Given the description of an element on the screen output the (x, y) to click on. 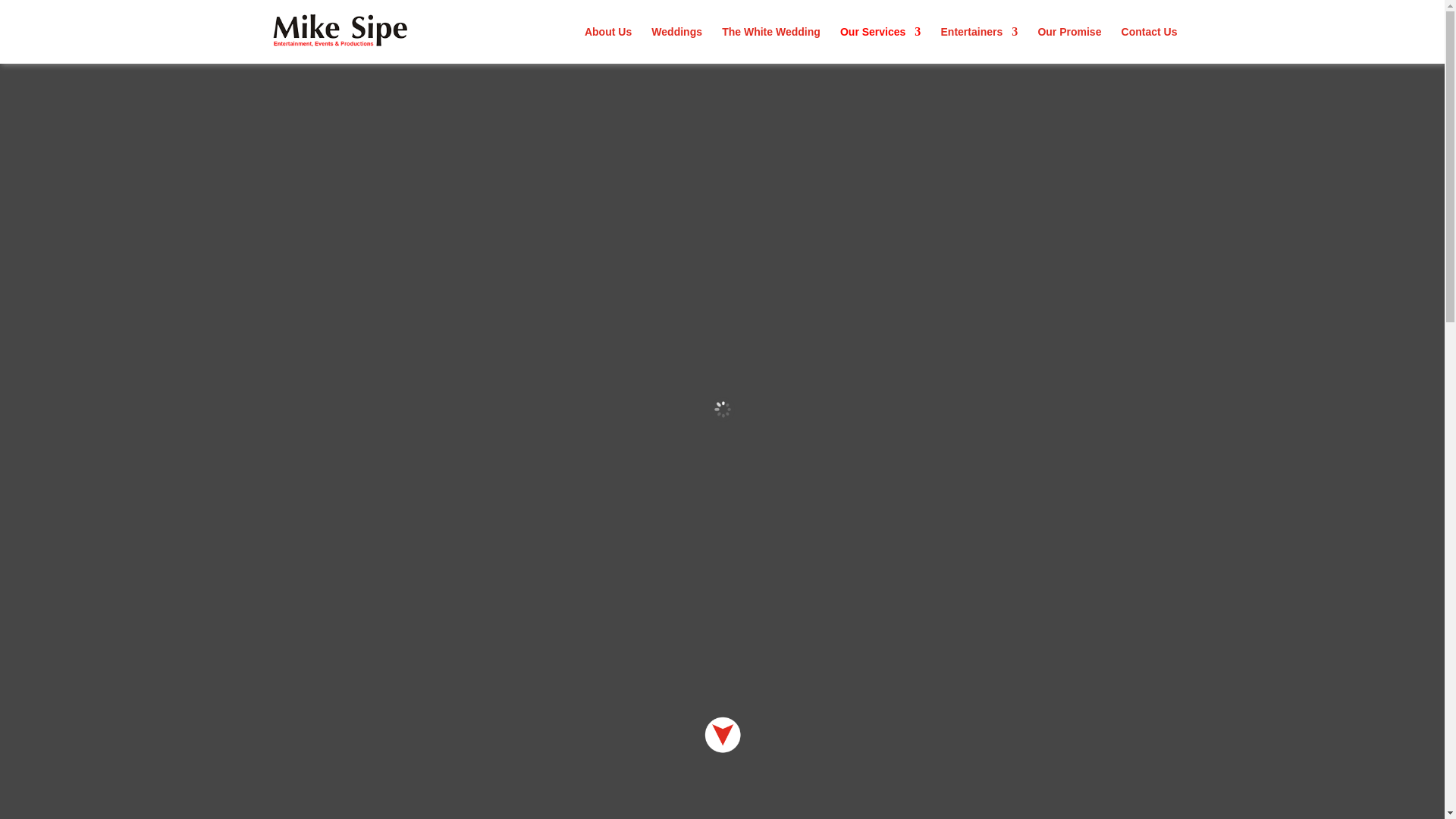
Our Promise (1068, 44)
The White Wedding (771, 44)
Entertainers (978, 44)
down-arrow-1 (722, 734)
Weddings (675, 44)
Our Services (880, 44)
About Us (608, 44)
Contact Us (1149, 44)
